Given the description of an element on the screen output the (x, y) to click on. 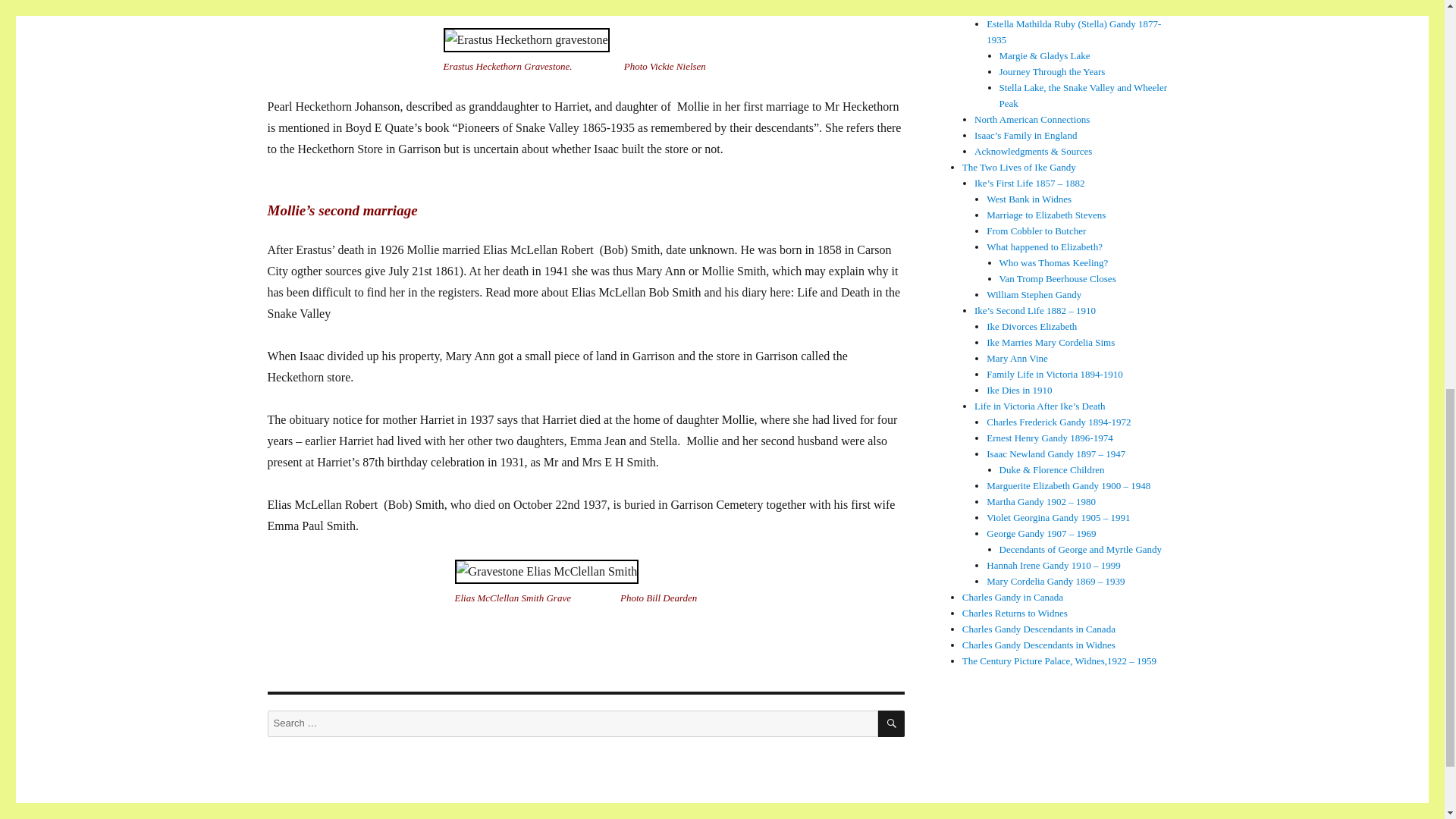
SEARCH (890, 723)
